Given the description of an element on the screen output the (x, y) to click on. 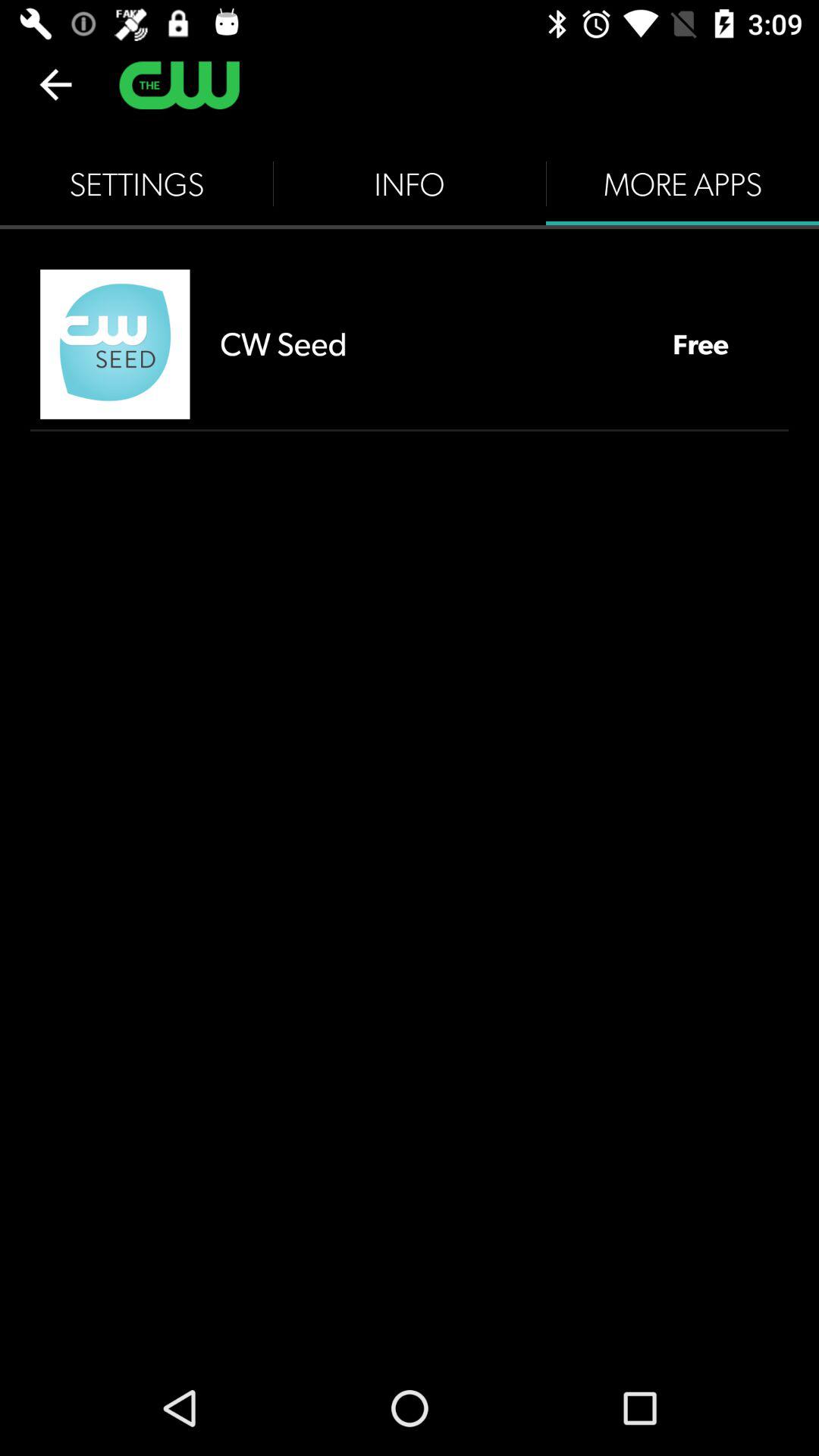
select the info icon (409, 184)
